Given the description of an element on the screen output the (x, y) to click on. 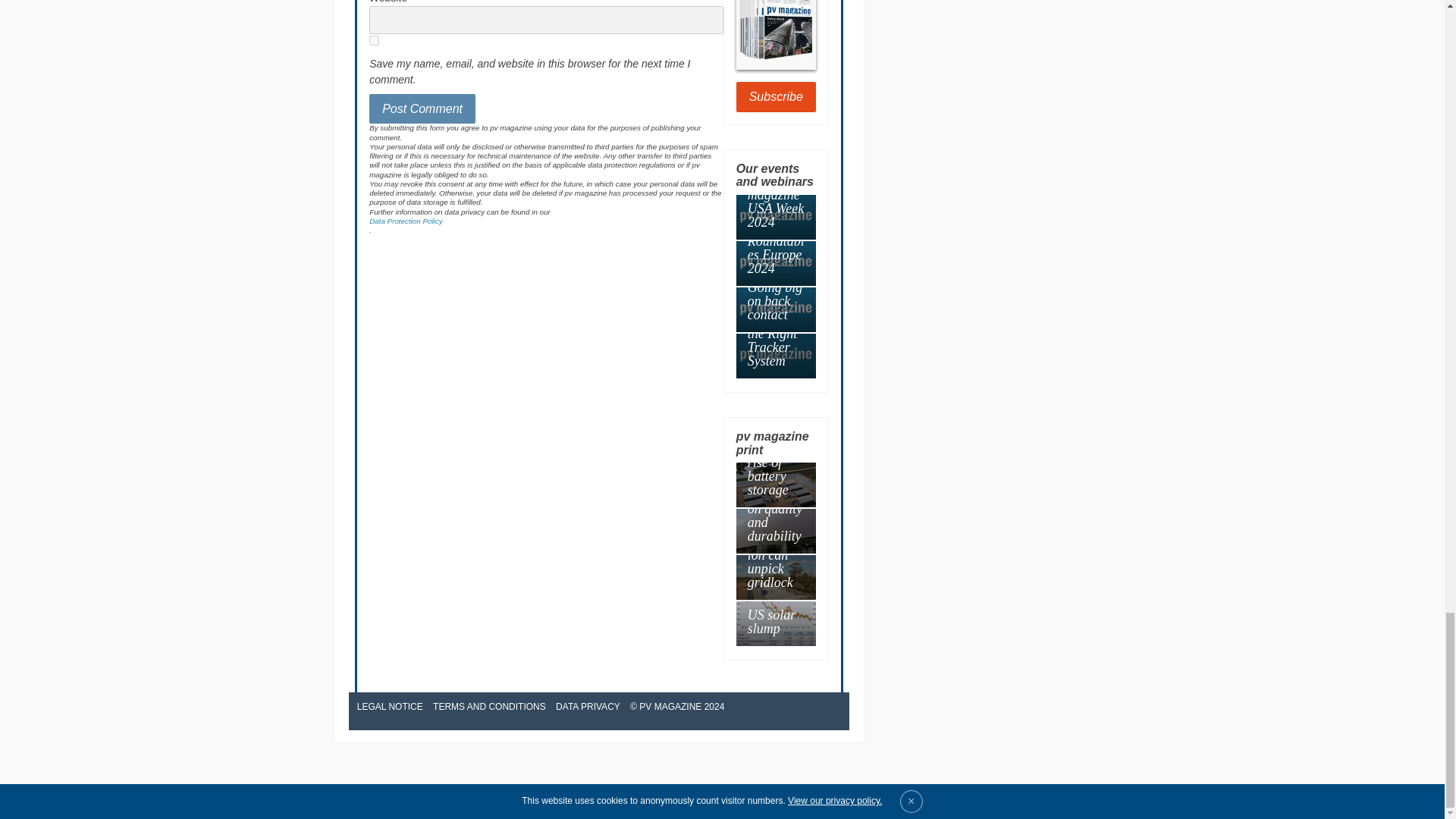
Post Comment (422, 109)
yes (373, 40)
